Given the description of an element on the screen output the (x, y) to click on. 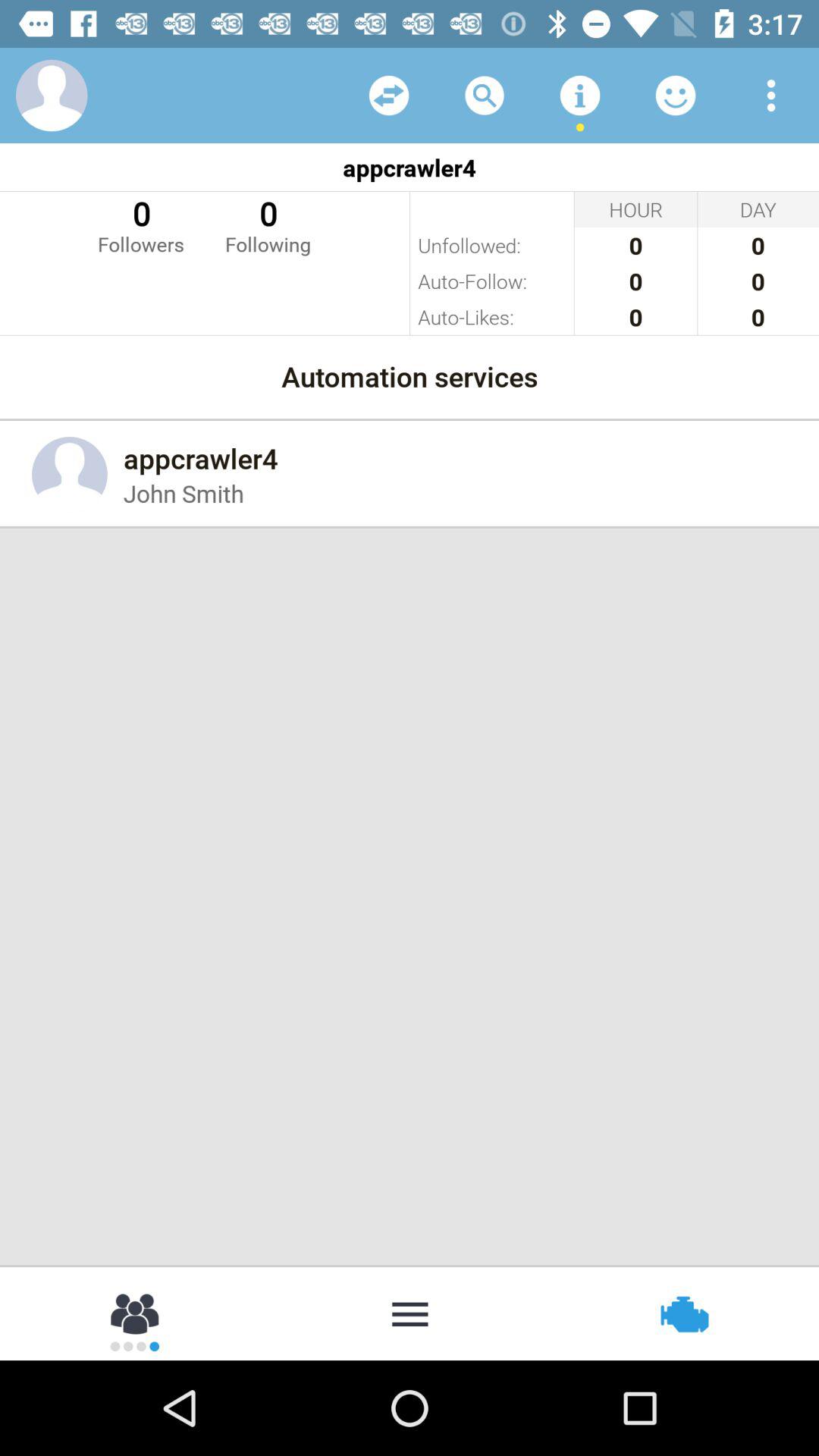
click item below appcrawler4 item (268, 224)
